Given the description of an element on the screen output the (x, y) to click on. 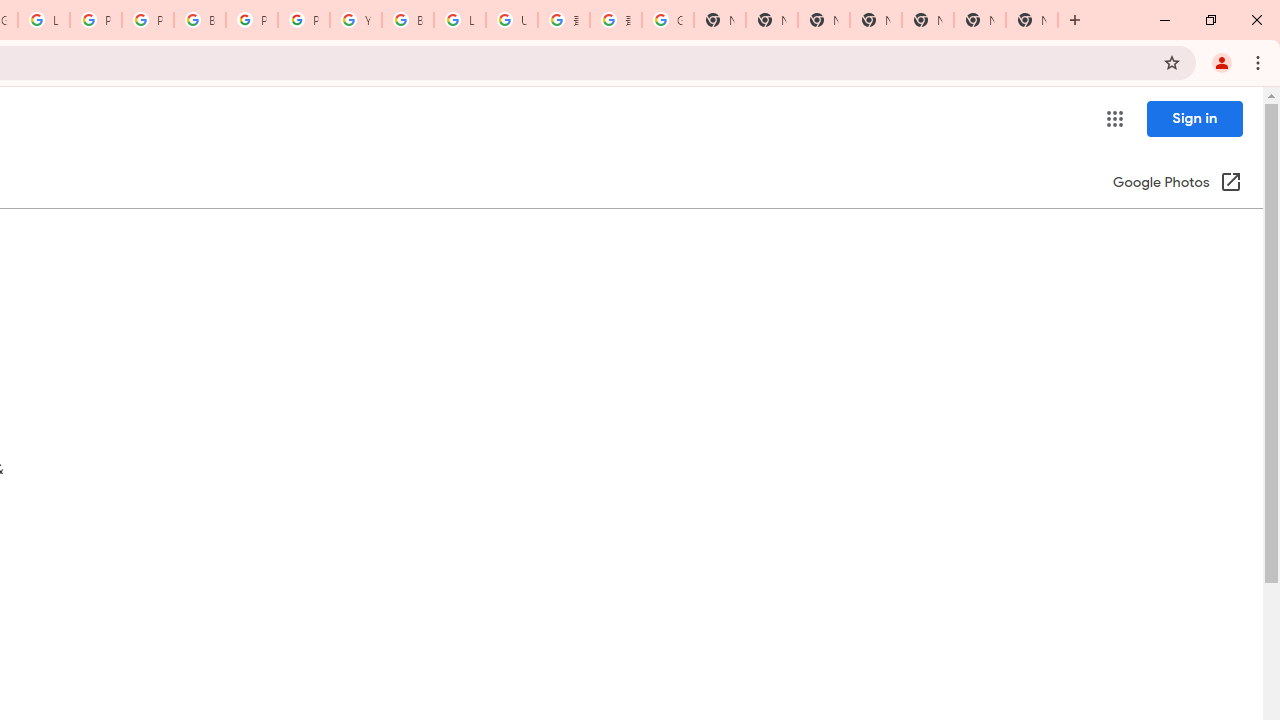
Google Photos (Open in a new window) (1177, 183)
Privacy Help Center - Policies Help (95, 20)
New Tab (1032, 20)
